Given the description of an element on the screen output the (x, y) to click on. 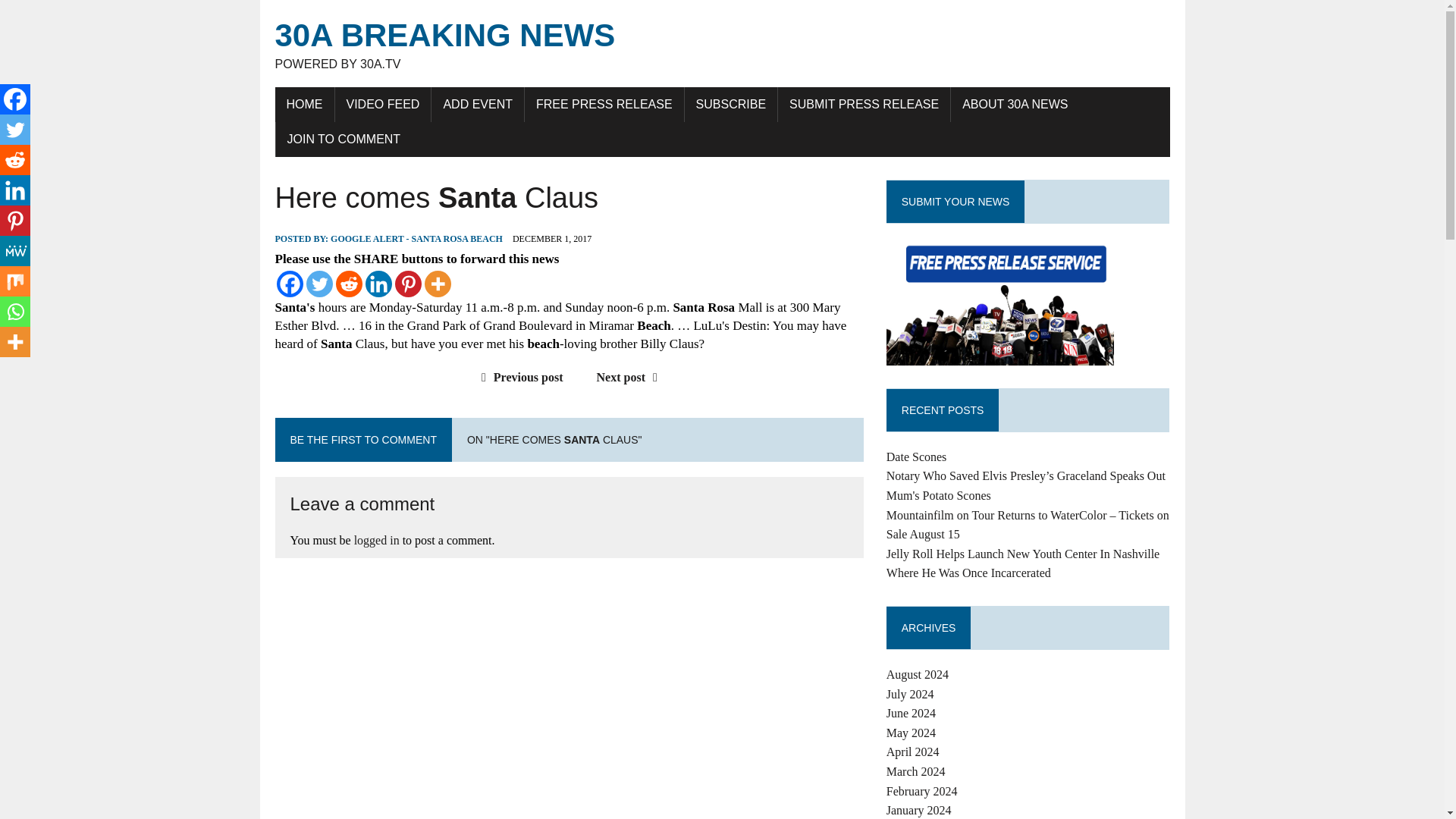
June 2024 (911, 712)
Linkedin (15, 190)
SUBMIT PRESS RELEASE (863, 104)
HOME (304, 104)
Twitter (15, 129)
logged in (375, 540)
Twitter (319, 284)
More (438, 284)
April 2024 (912, 751)
